Given the description of an element on the screen output the (x, y) to click on. 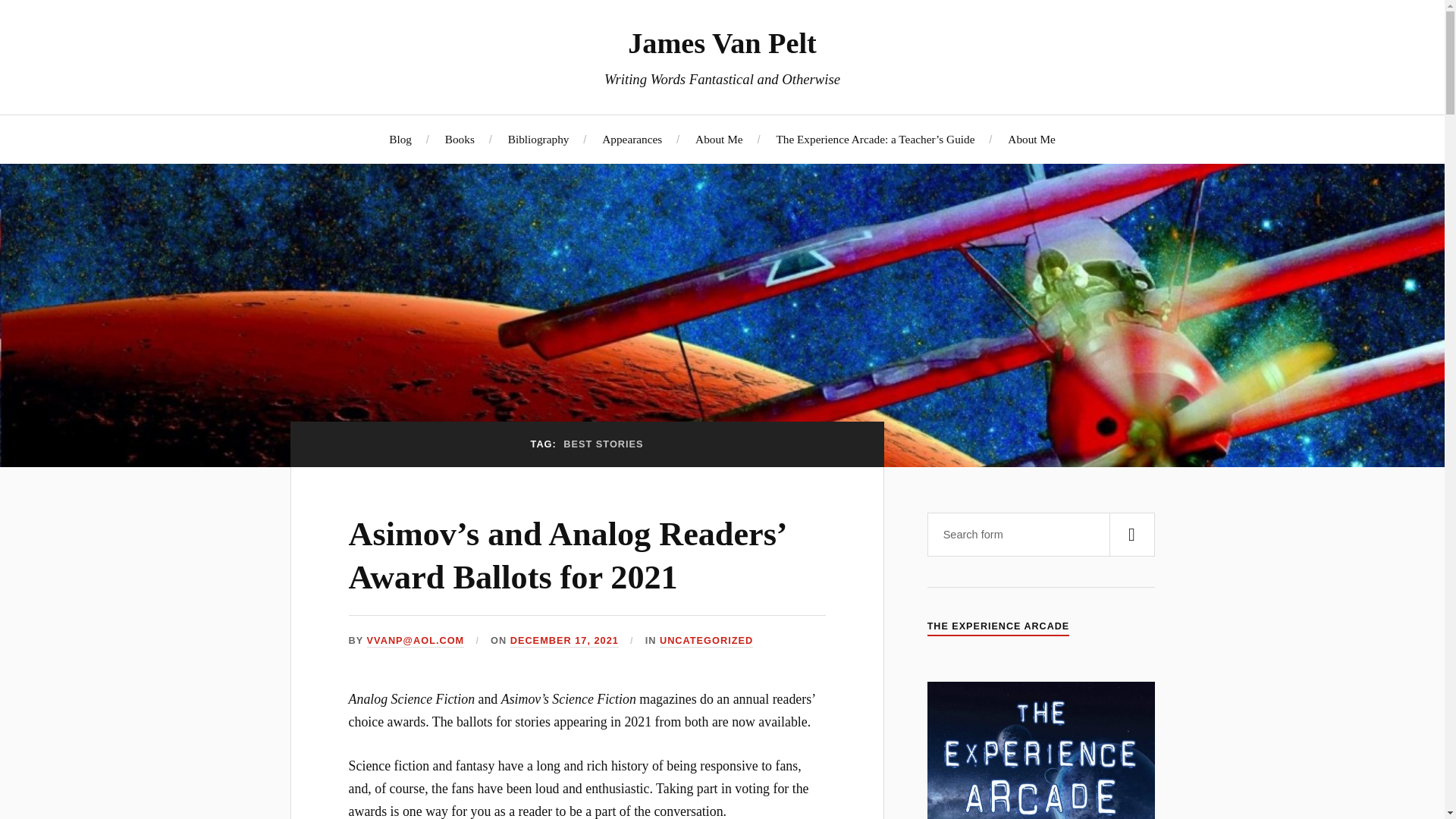
DECEMBER 17, 2021 (564, 640)
About Me (1030, 138)
Bibliography (538, 138)
Appearances (632, 138)
James Van Pelt (721, 42)
UNCATEGORIZED (705, 640)
About Me (718, 138)
